Given the description of an element on the screen output the (x, y) to click on. 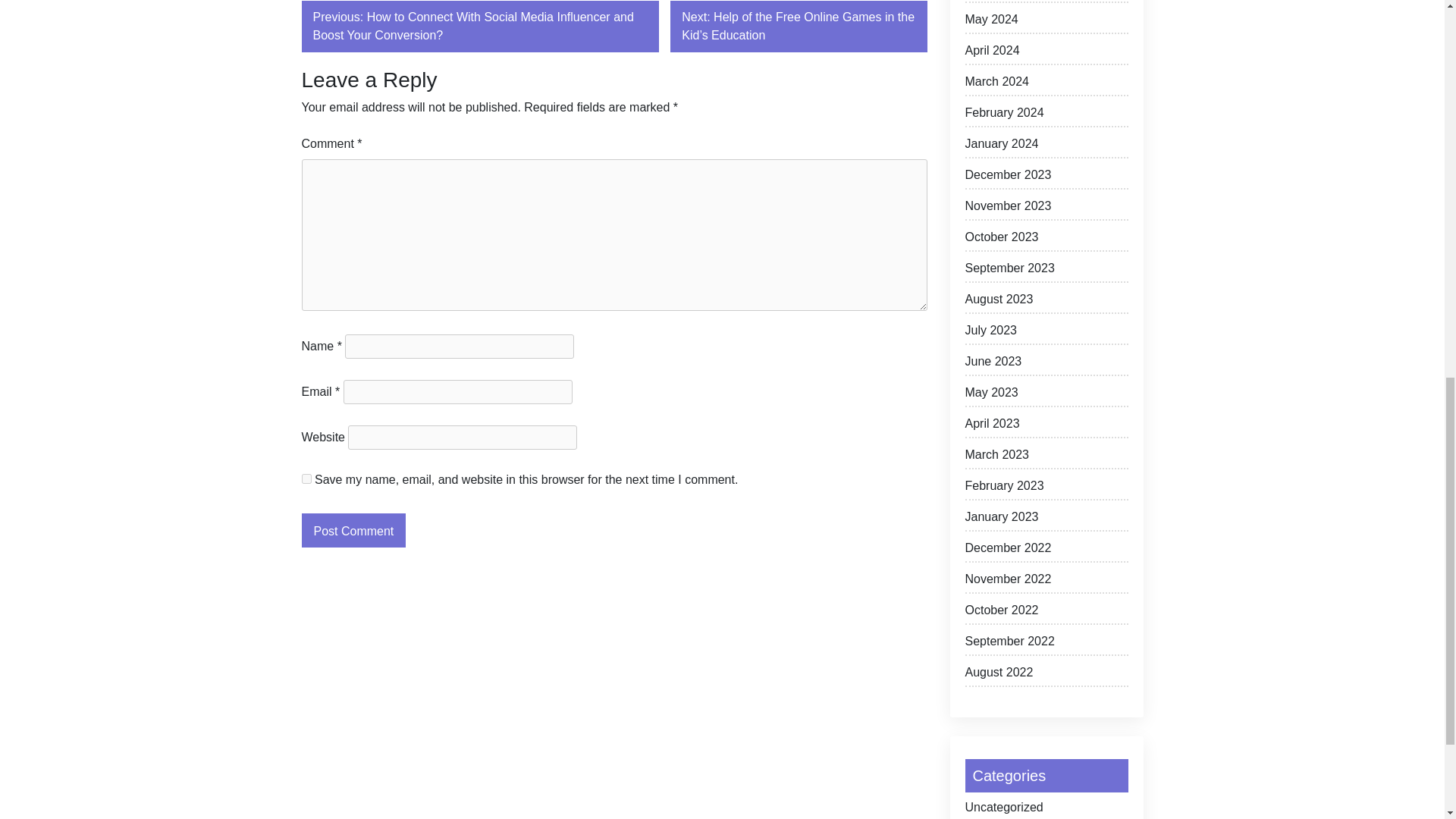
March 2024 (1044, 84)
February 2024 (1044, 115)
December 2023 (1044, 177)
January 2024 (1044, 146)
December 2022 (1044, 550)
June 2023 (1044, 363)
November 2022 (1044, 581)
September 2022 (1044, 644)
March 2023 (1044, 457)
Post Comment (353, 530)
October 2023 (1044, 239)
June 2024 (1044, 1)
May 2023 (1044, 395)
Post Comment (353, 530)
October 2022 (1044, 612)
